Given the description of an element on the screen output the (x, y) to click on. 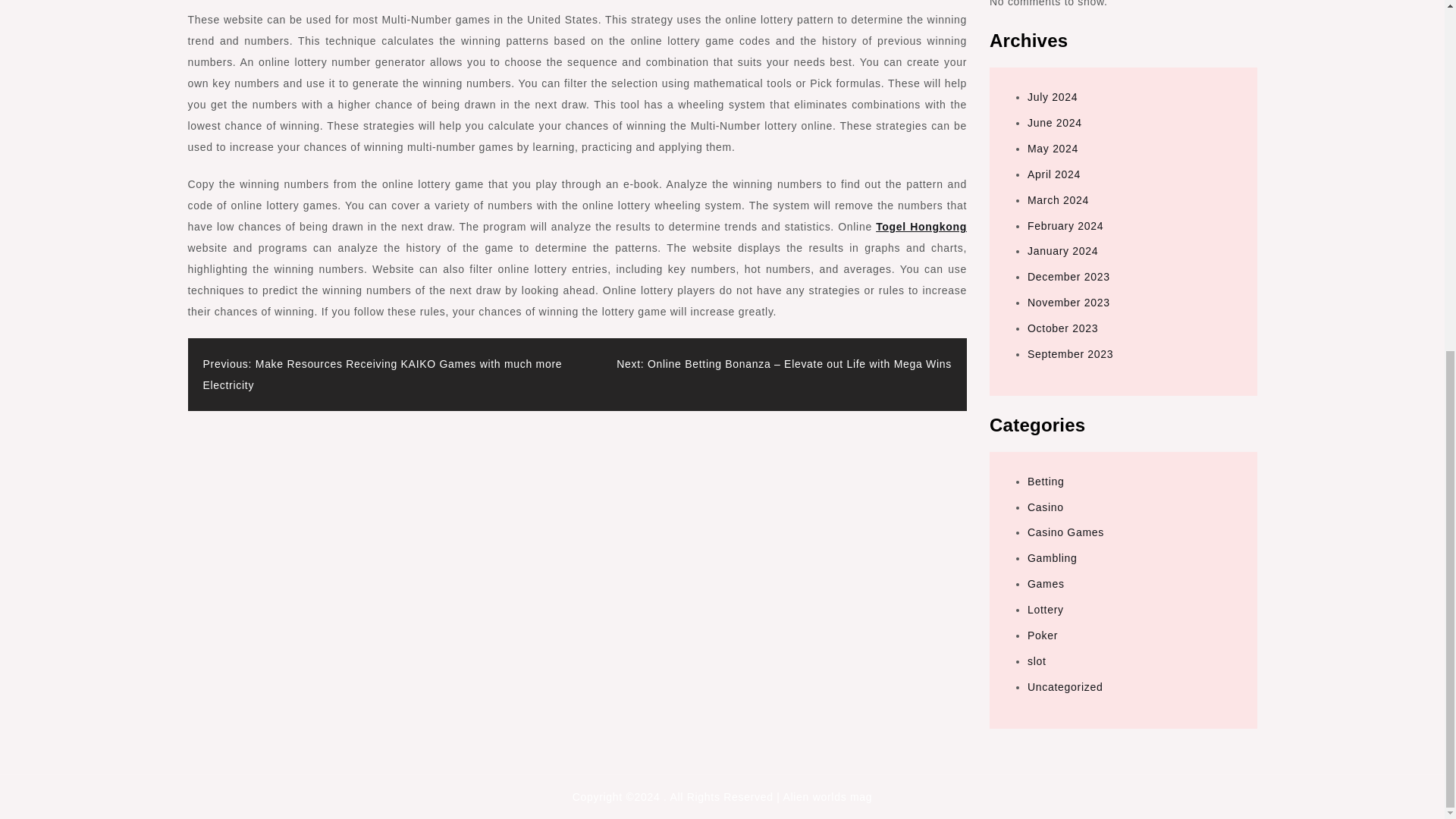
November 2023 (1068, 302)
July 2024 (1052, 96)
March 2024 (1058, 200)
January 2024 (1062, 250)
Casino (1045, 507)
December 2023 (1068, 276)
May 2024 (1052, 148)
Lottery (1045, 609)
Games (1045, 583)
